Given the description of an element on the screen output the (x, y) to click on. 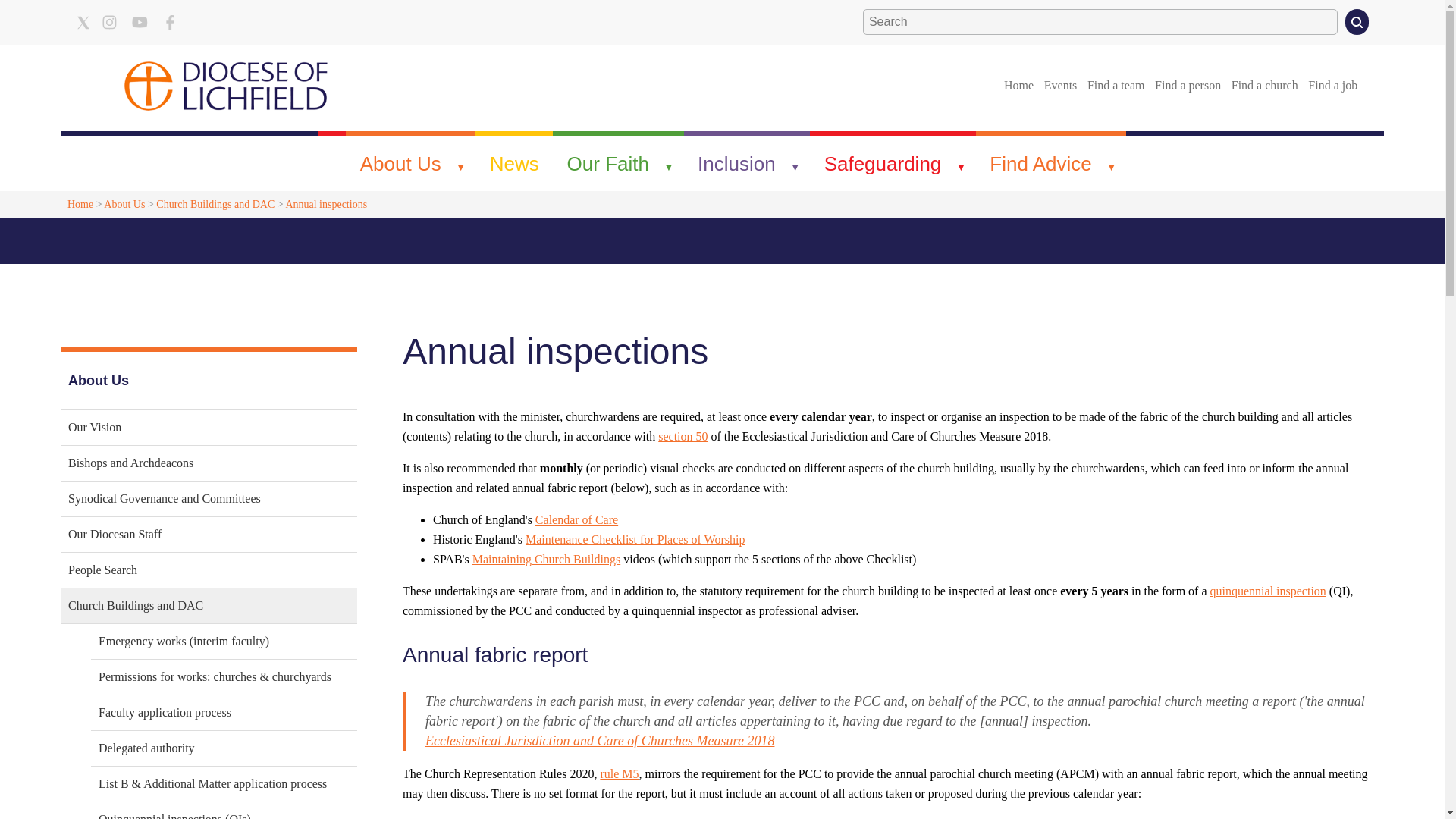
Find a church (1264, 84)
Find a job (1332, 84)
Find a person (1187, 84)
Logo (226, 85)
Events (1060, 84)
Home (1018, 84)
Find a team (1115, 84)
